Given the description of an element on the screen output the (x, y) to click on. 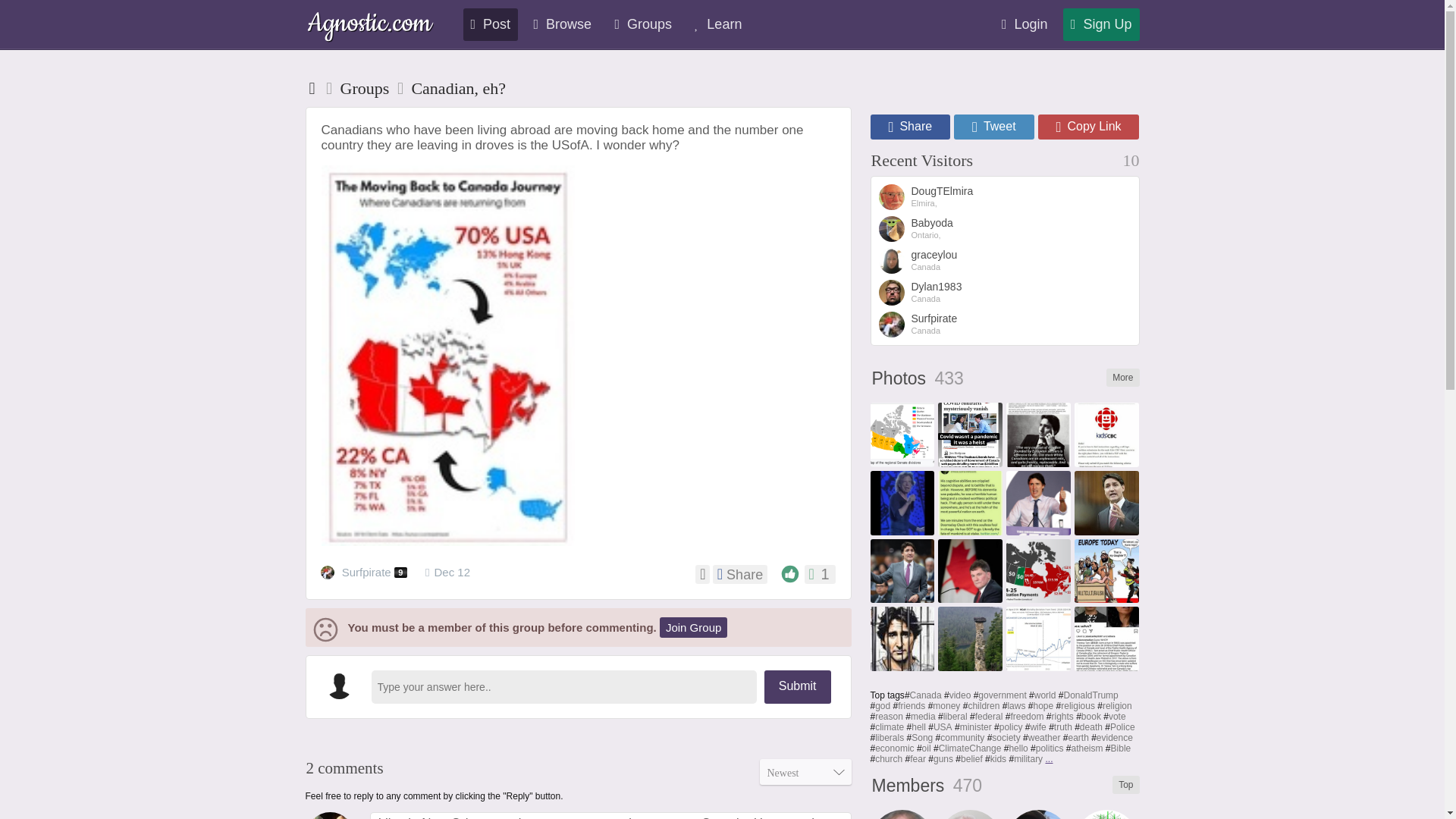
Groups (365, 88)
Level 9.0 (400, 572)
Learn (718, 24)
Surfpirate 9 (365, 572)
Login (1024, 24)
Sign Up (1101, 24)
Groups (643, 24)
Agnostic.com (368, 25)
Browse (561, 24)
Like (789, 574)
